Given the description of an element on the screen output the (x, y) to click on. 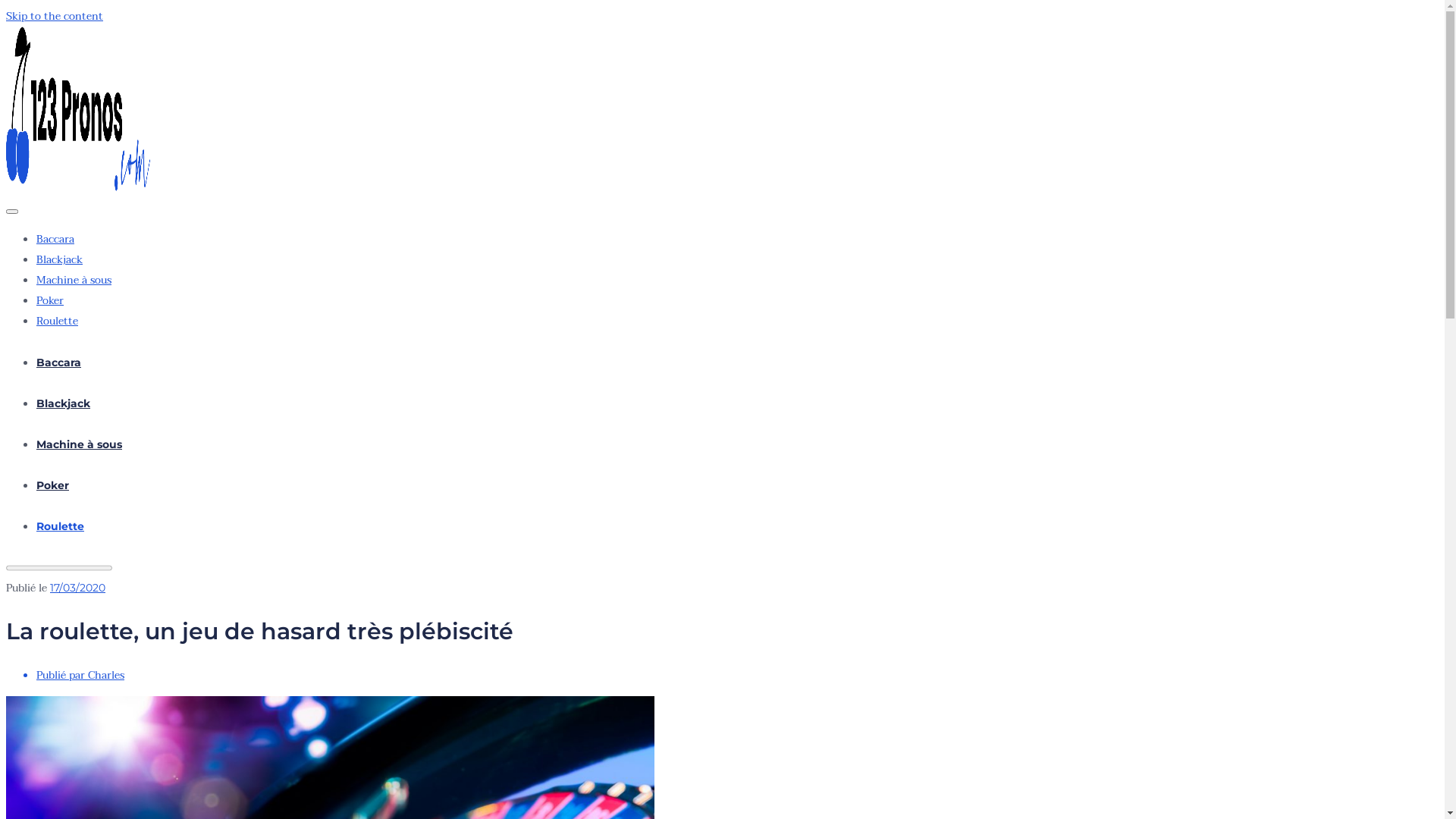
Roulette Element type: text (60, 526)
17/03/2020 Element type: text (77, 587)
Baccara Element type: text (55, 238)
Roulette Element type: text (57, 320)
Blackjack Element type: text (63, 403)
Blackjack Element type: text (59, 259)
Skip to the content Element type: text (54, 16)
Poker Element type: text (49, 300)
Baccara Element type: text (58, 362)
Poker Element type: text (52, 485)
